Given the description of an element on the screen output the (x, y) to click on. 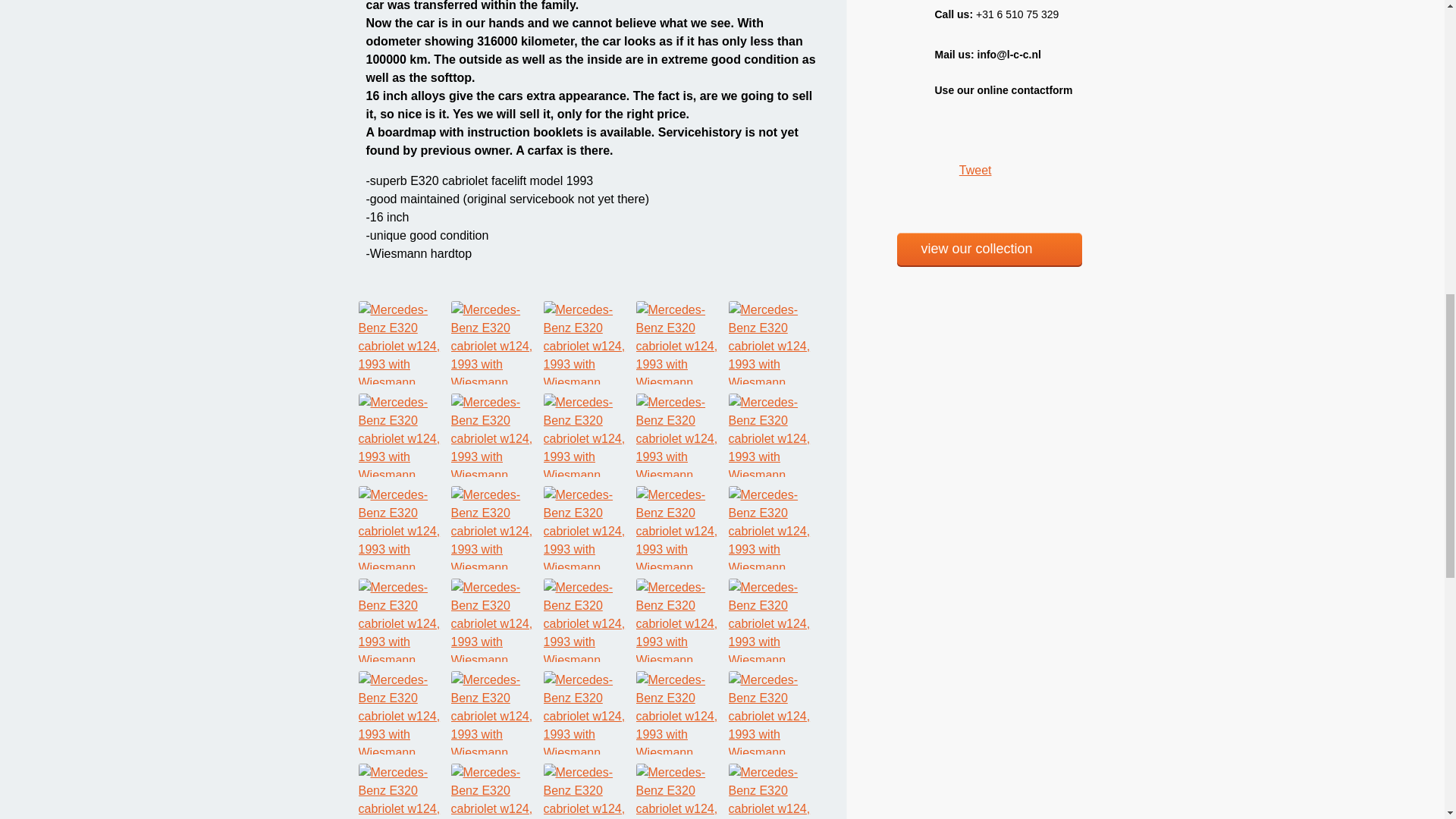
View large image (496, 342)
View large image (774, 434)
View large image (496, 619)
View large image (681, 342)
View large image (403, 619)
View large image (403, 342)
View large image (588, 526)
View large image (681, 526)
View large image (681, 434)
View large image (403, 526)
